Given the description of an element on the screen output the (x, y) to click on. 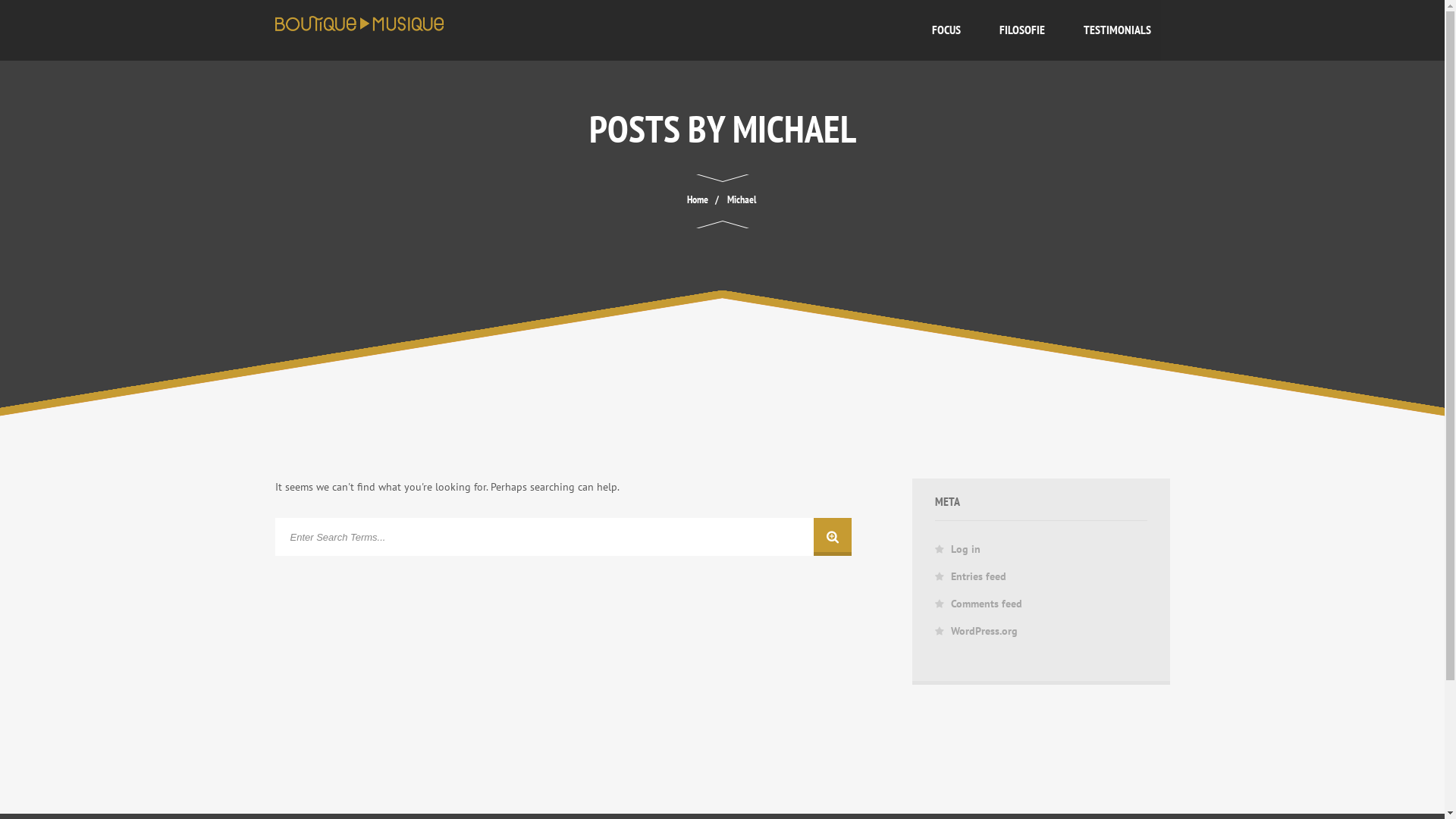
FOCUS Element type: text (946, 30)
Entries feed Element type: text (978, 576)
Search Element type: hover (562, 536)
Home Element type: text (697, 199)
Comments feed Element type: text (986, 603)
WordPress.org Element type: text (983, 630)
TESTIMONIALS Element type: text (1117, 30)
Log in Element type: text (965, 548)
FILOSOFIE Element type: text (1021, 30)
